Given the description of an element on the screen output the (x, y) to click on. 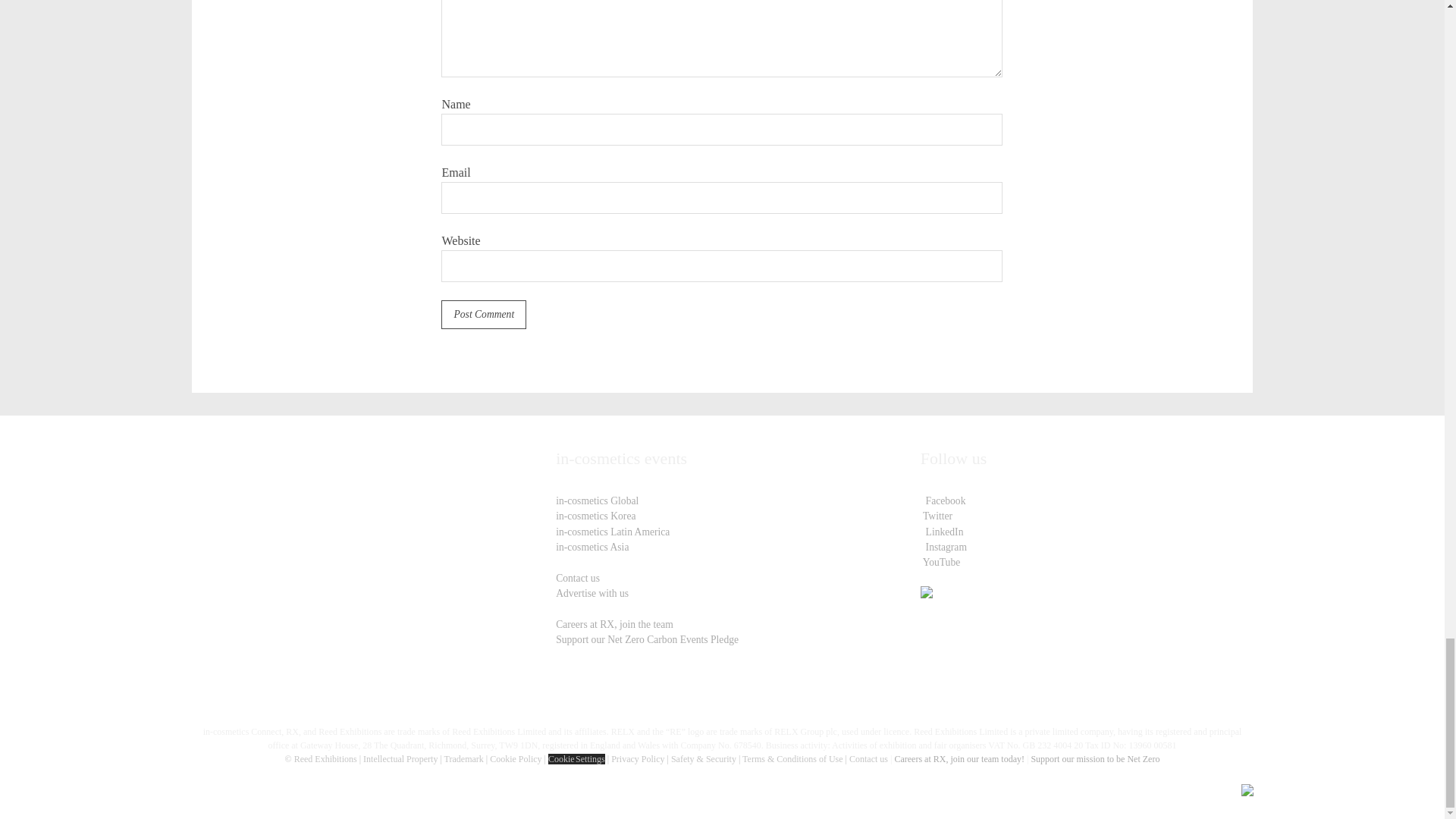
Post Comment (483, 314)
